Given the description of an element on the screen output the (x, y) to click on. 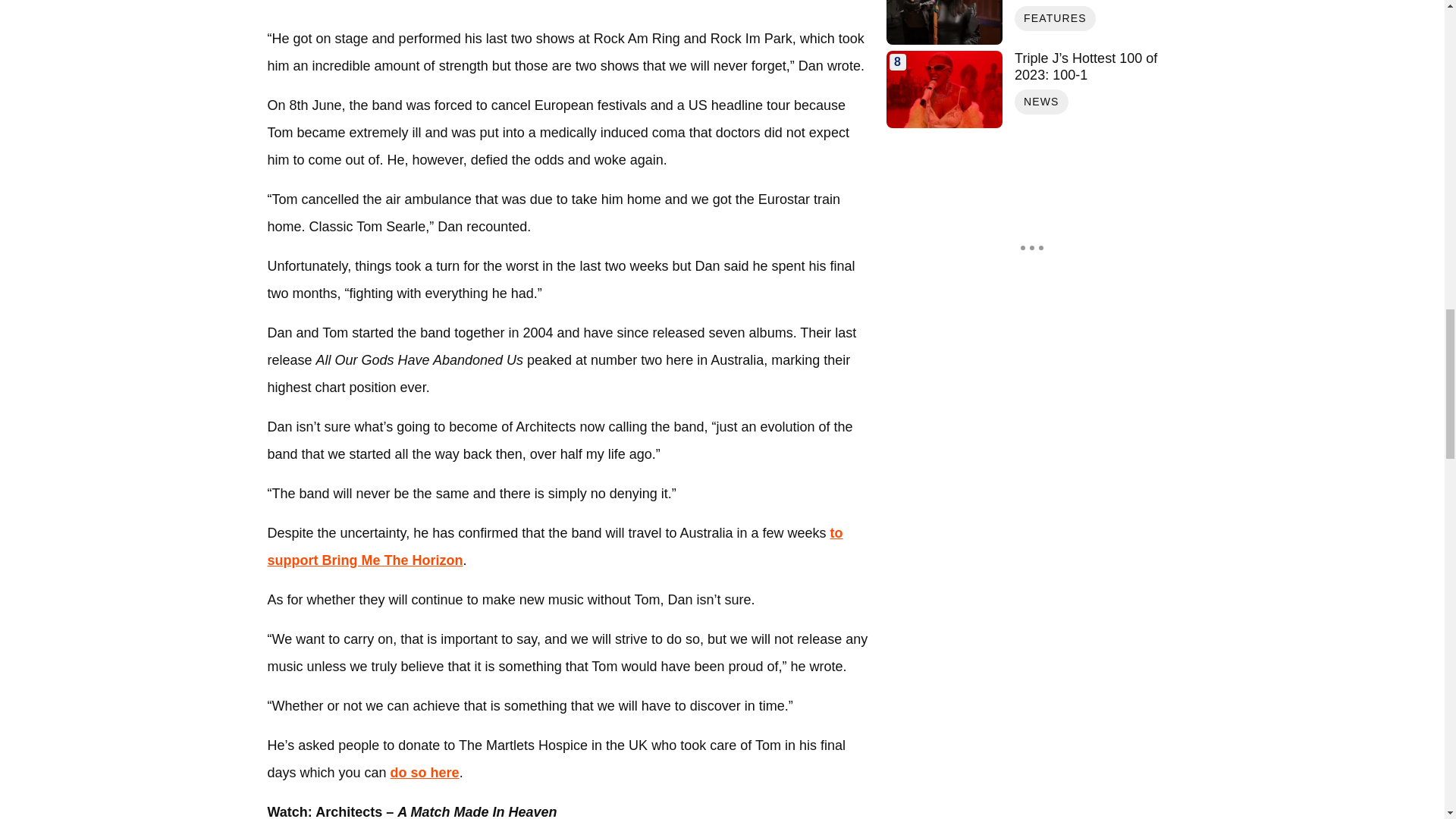
to support Bring Me The Horizon (554, 546)
do so here (425, 772)
